Given the description of an element on the screen output the (x, y) to click on. 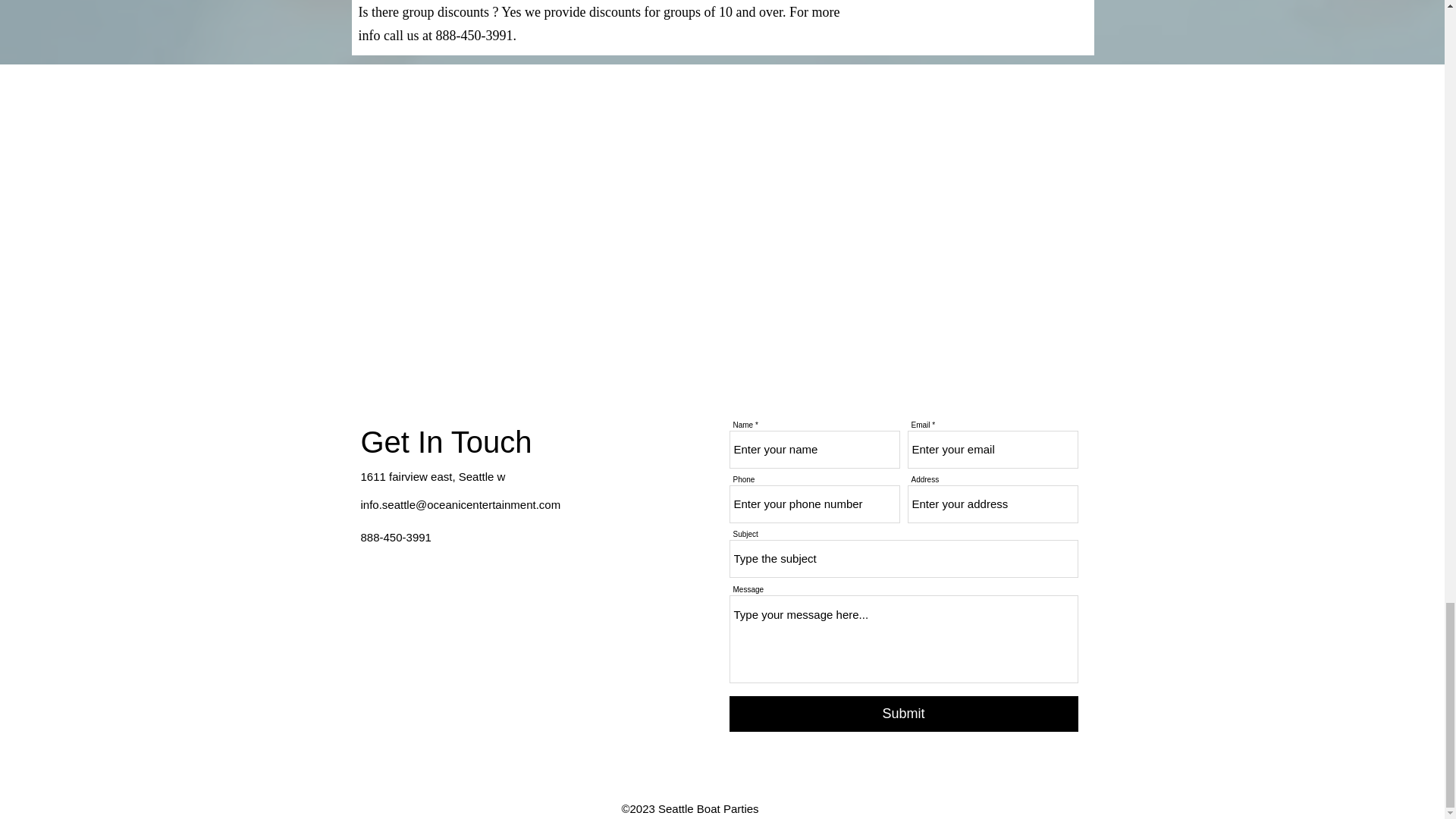
Google Maps (497, 685)
Submit (903, 714)
